Given the description of an element on the screen output the (x, y) to click on. 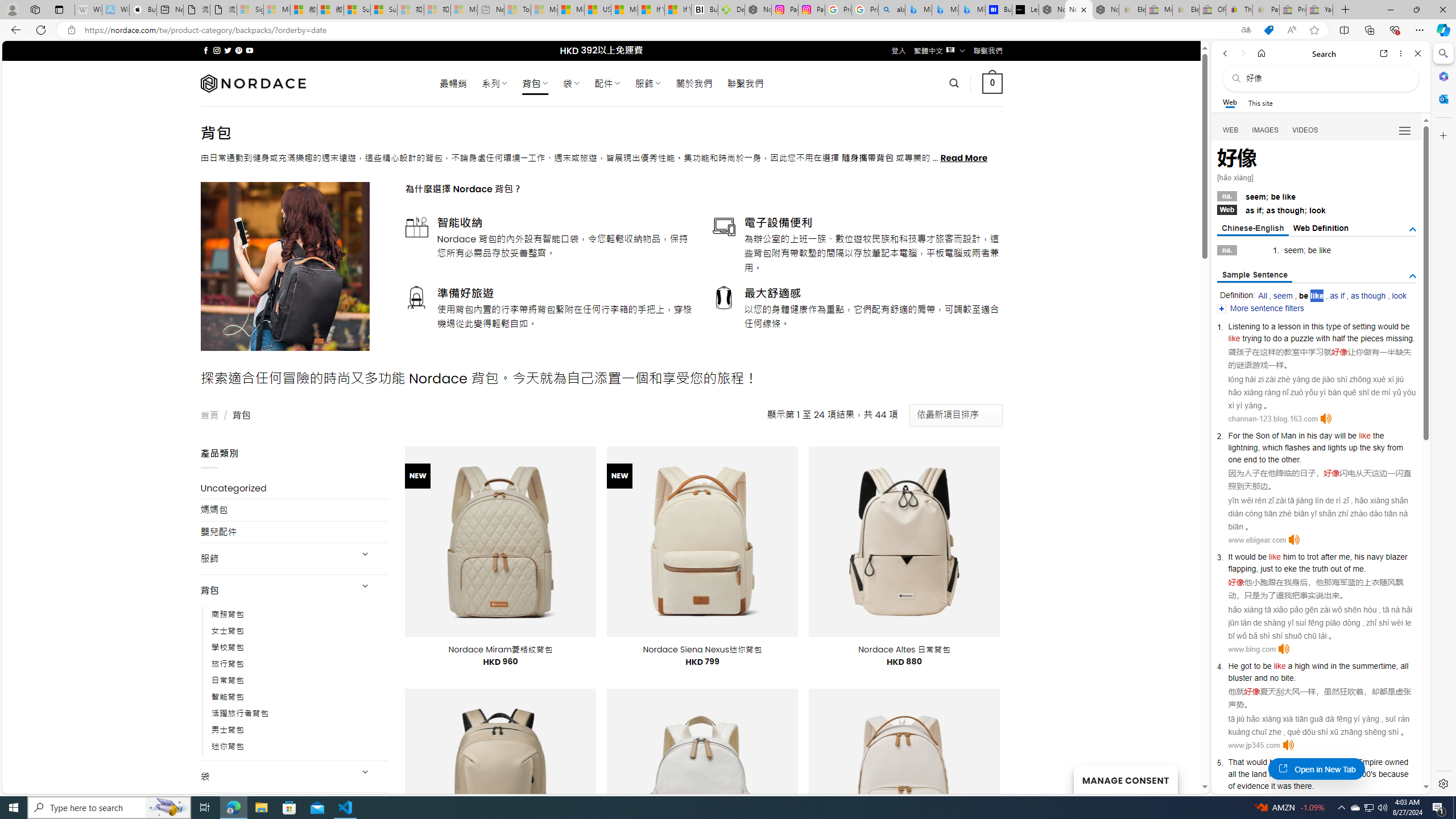
Uncategorized (294, 488)
blazer (1396, 556)
seem (1282, 295)
puzzle (1301, 338)
Microsoft Bing Travel - Flights from Hong Kong to Bangkok (917, 9)
if (1259, 209)
